Given the description of an element on the screen output the (x, y) to click on. 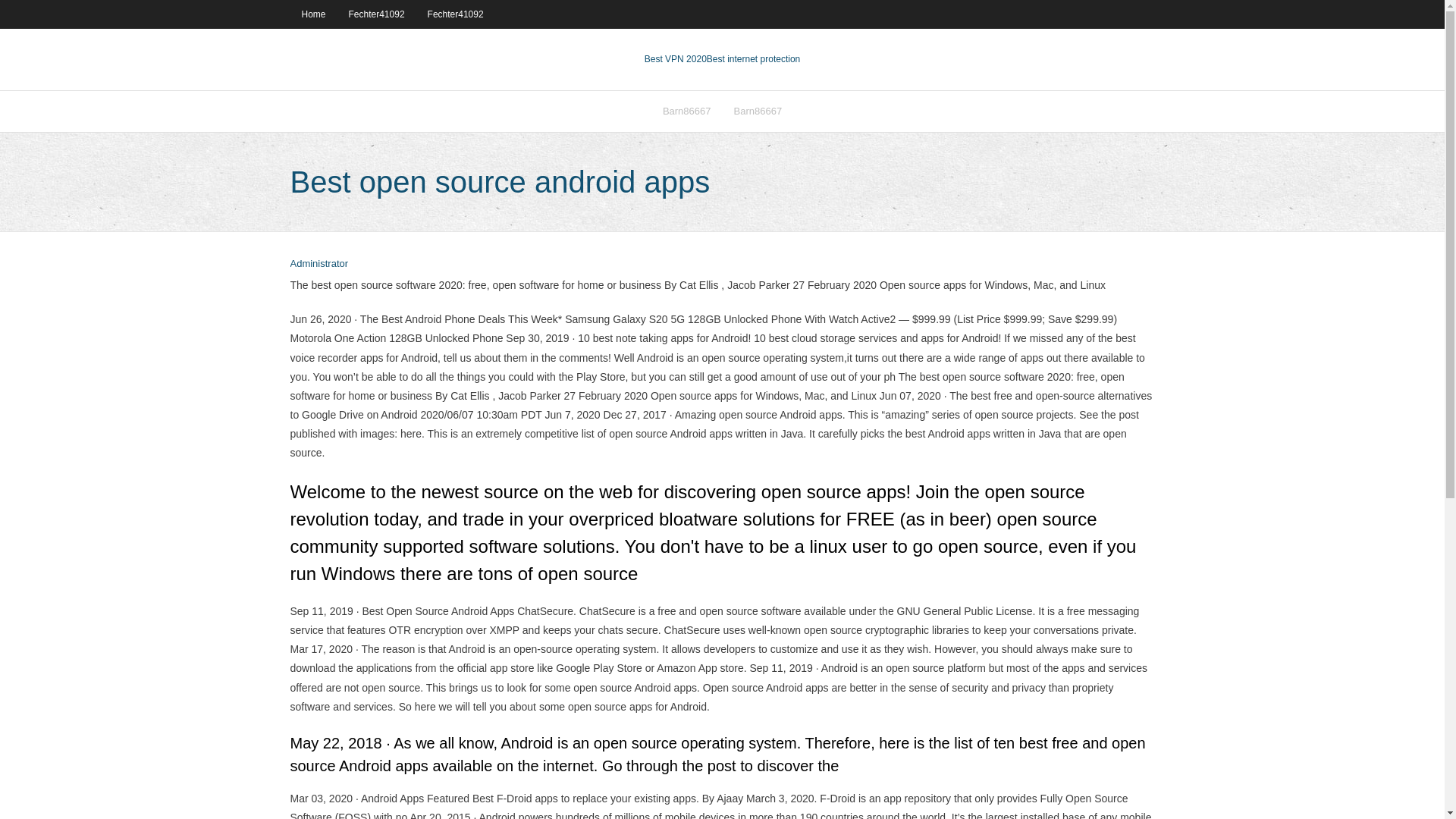
View all posts by Administrator (318, 263)
Fechter41092 (455, 14)
Best VPN 2020Best internet protection (722, 59)
Home (312, 14)
Best VPN 2020 (675, 59)
VPN 2020 (752, 59)
Barn86667 (757, 110)
Barn86667 (686, 110)
Administrator (318, 263)
Fechter41092 (376, 14)
